Given the description of an element on the screen output the (x, y) to click on. 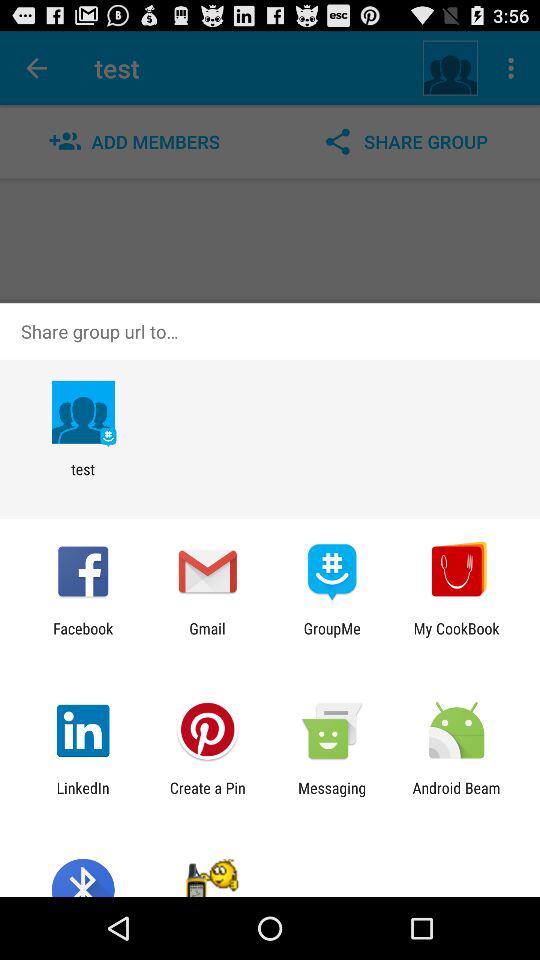
choose test app (82, 478)
